Given the description of an element on the screen output the (x, y) to click on. 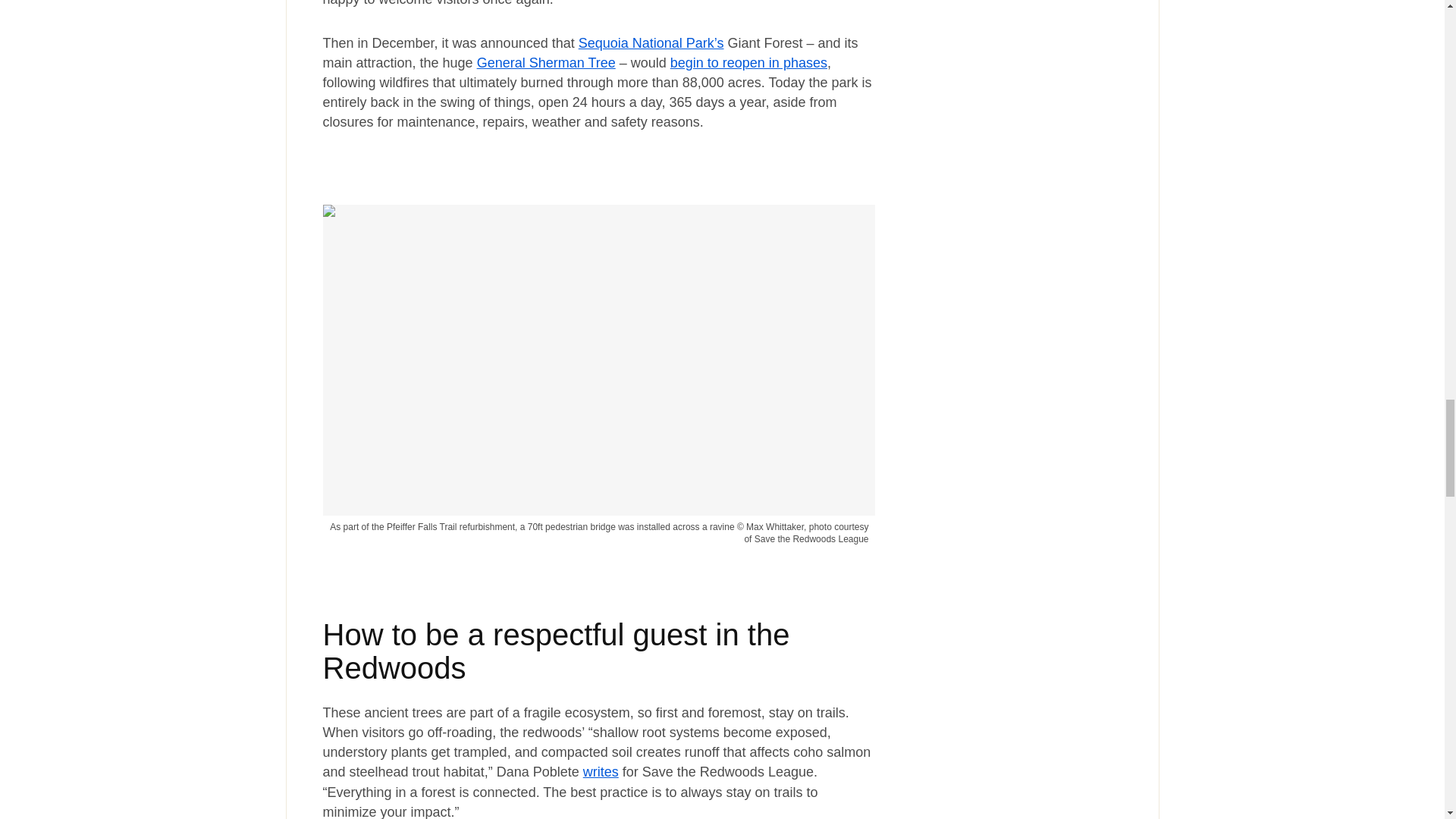
writes (600, 771)
begin to reopen in phases (748, 62)
General Sherman Tree (546, 62)
